Given the description of an element on the screen output the (x, y) to click on. 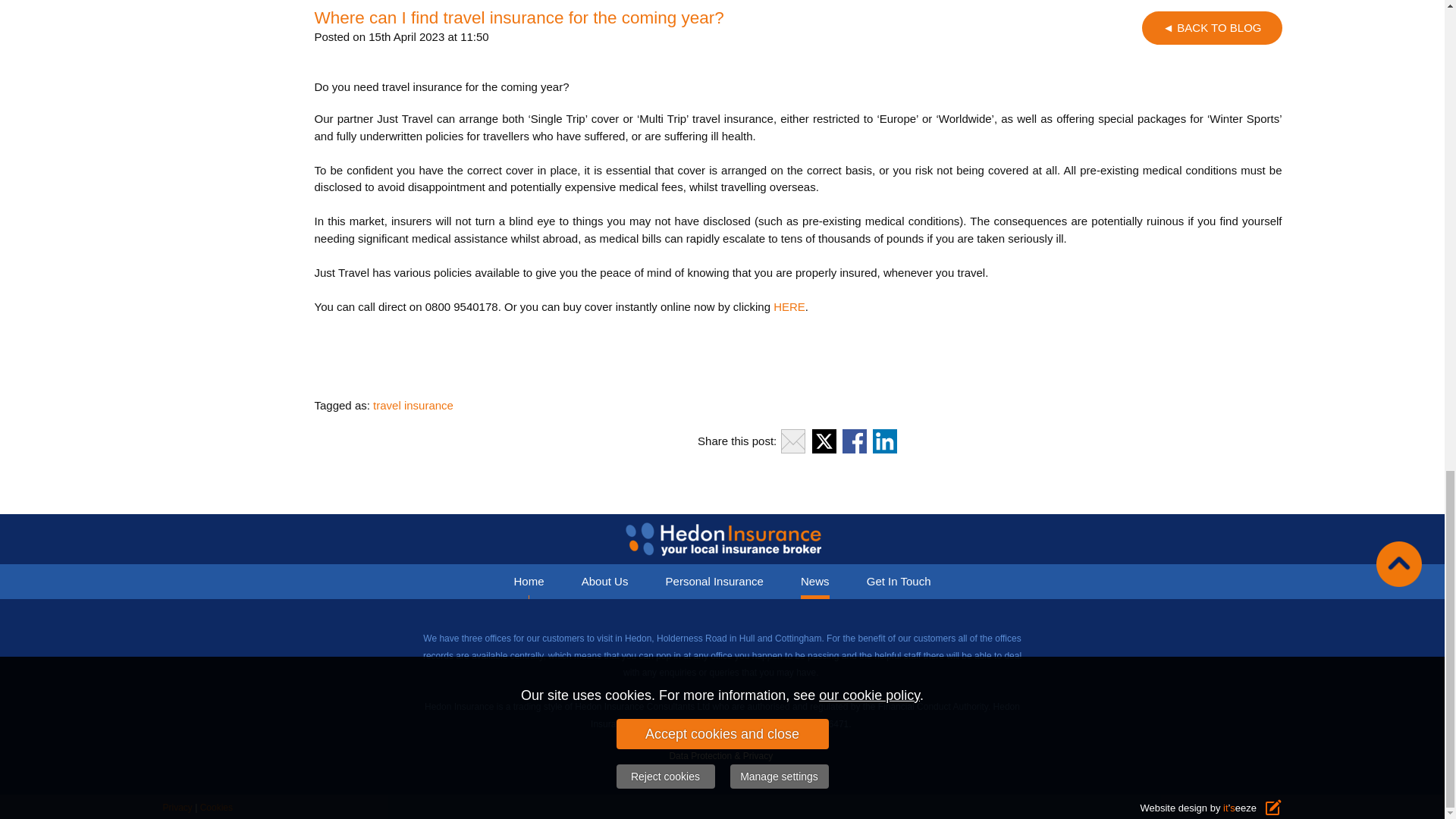
travel insurance (412, 404)
HERE (789, 306)
BACK TO BLOG (1211, 27)
